Given the description of an element on the screen output the (x, y) to click on. 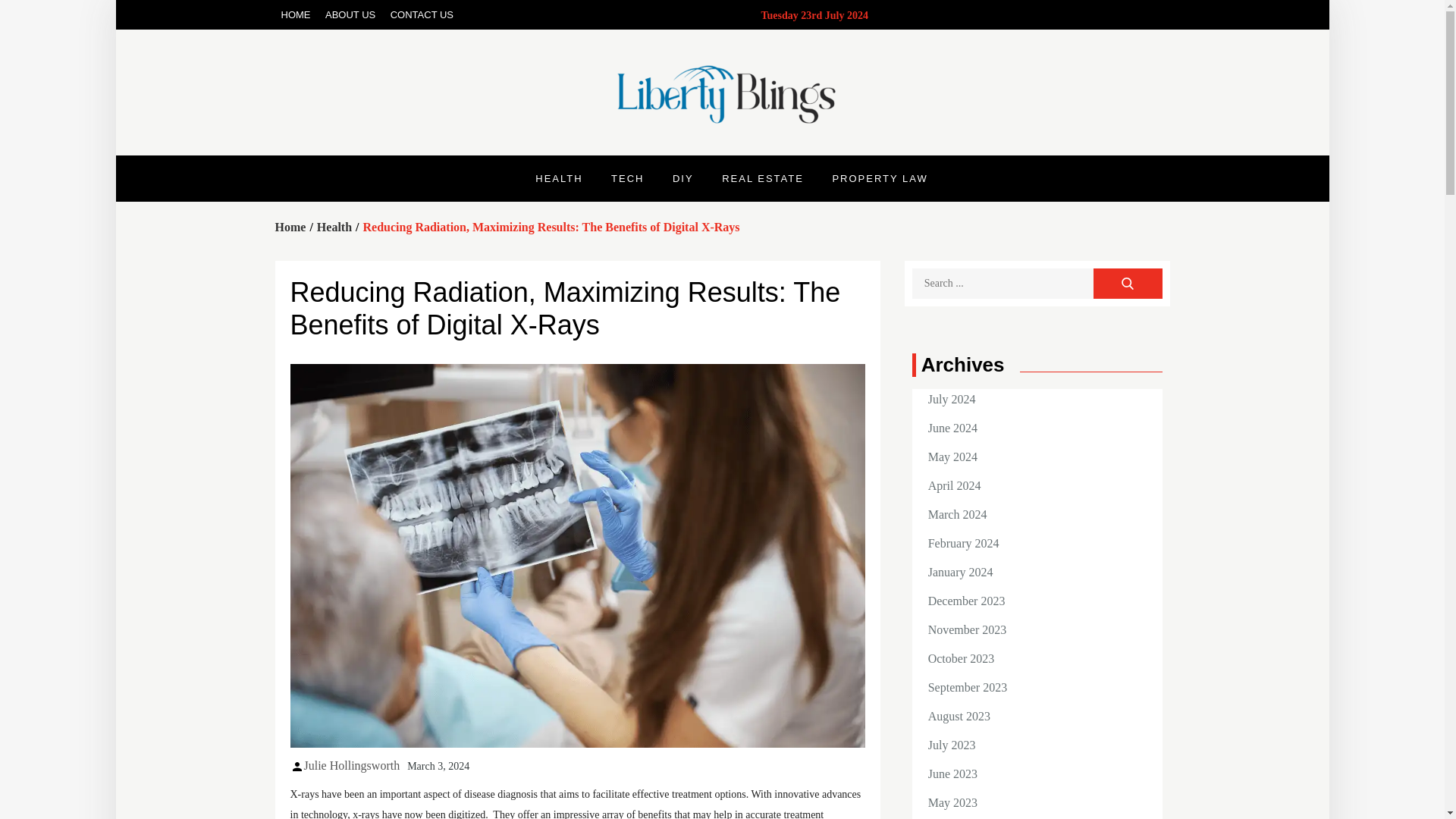
PROPERTY LAW (879, 178)
October 2023 (961, 658)
DIY (682, 178)
Search (1127, 283)
Home (290, 226)
November 2023 (967, 629)
Julie Hollingsworth (350, 765)
May 2023 (952, 802)
Health (334, 226)
March 2024 (957, 513)
REAL ESTATE (762, 178)
February 2024 (963, 543)
July 2024 (951, 399)
May 2024 (952, 456)
TECH (627, 178)
